Given the description of an element on the screen output the (x, y) to click on. 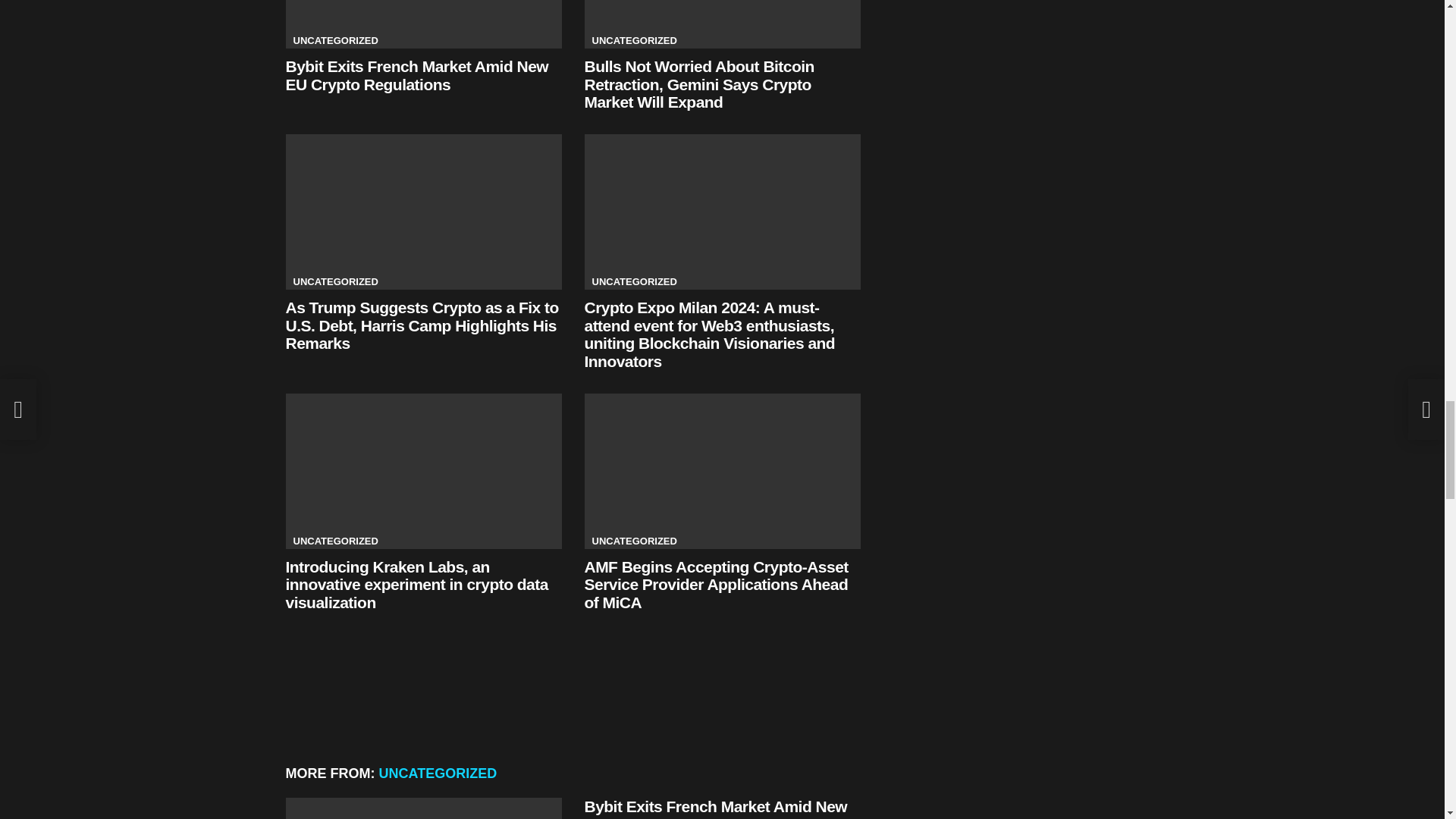
Bybit Exits French Market Amid New EU Crypto Regulations (422, 24)
Bybit Exits French Market Amid New EU Crypto Regulations (422, 808)
